Given the description of an element on the screen output the (x, y) to click on. 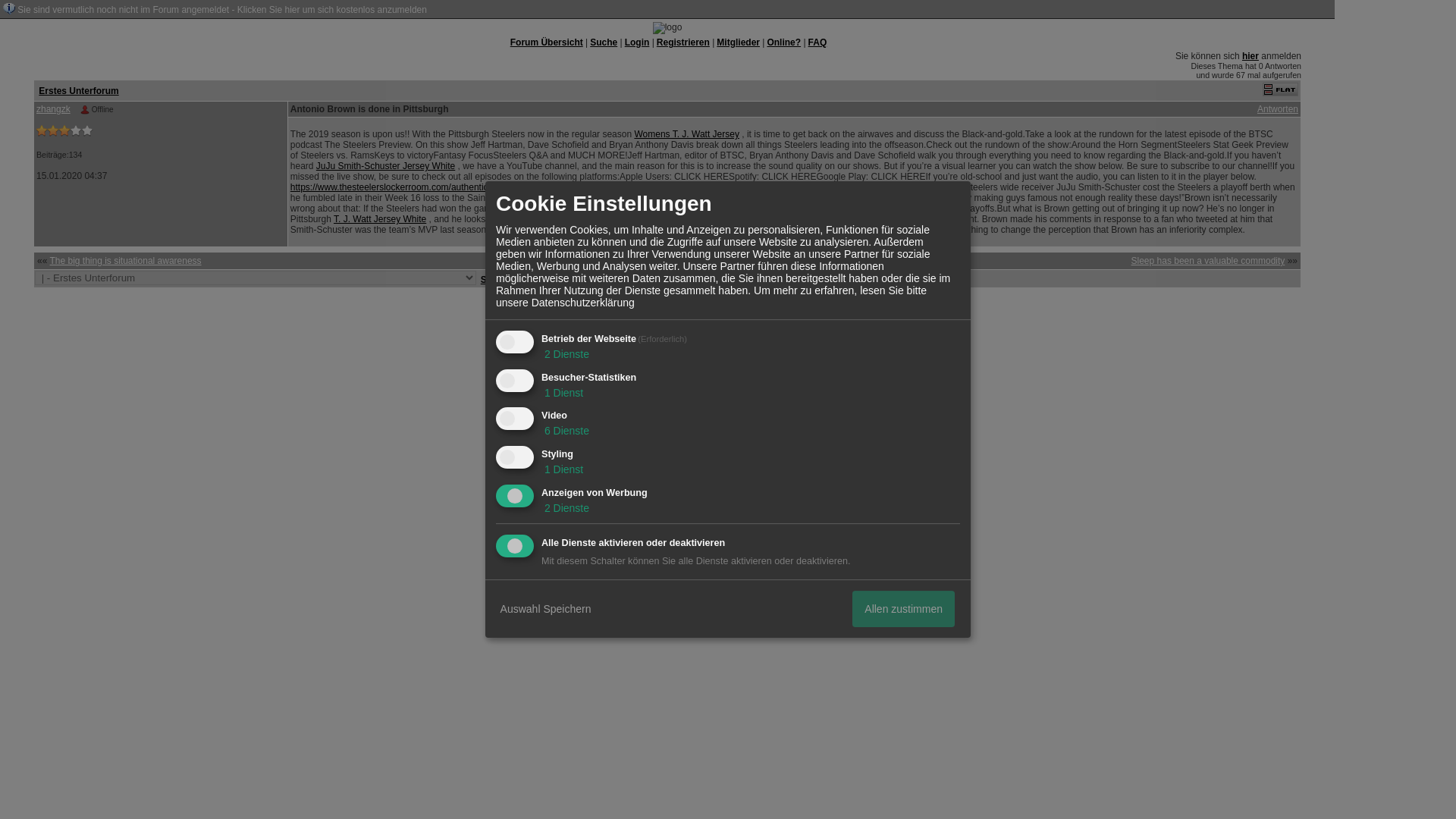
hier (1250, 55)
Registrieren (683, 41)
T. J. Watt Jersey White (379, 218)
Sprung (496, 279)
Online? (783, 41)
Womens T. J. Watt Jersey (685, 133)
Forum erstellen (690, 298)
Login (636, 41)
Erstes Unterforum (78, 90)
Antworten (1277, 109)
FAQ (817, 41)
zhangzk (52, 109)
Suche (603, 41)
JuJu Smith-Schuster Jersey White (384, 165)
